Given the description of an element on the screen output the (x, y) to click on. 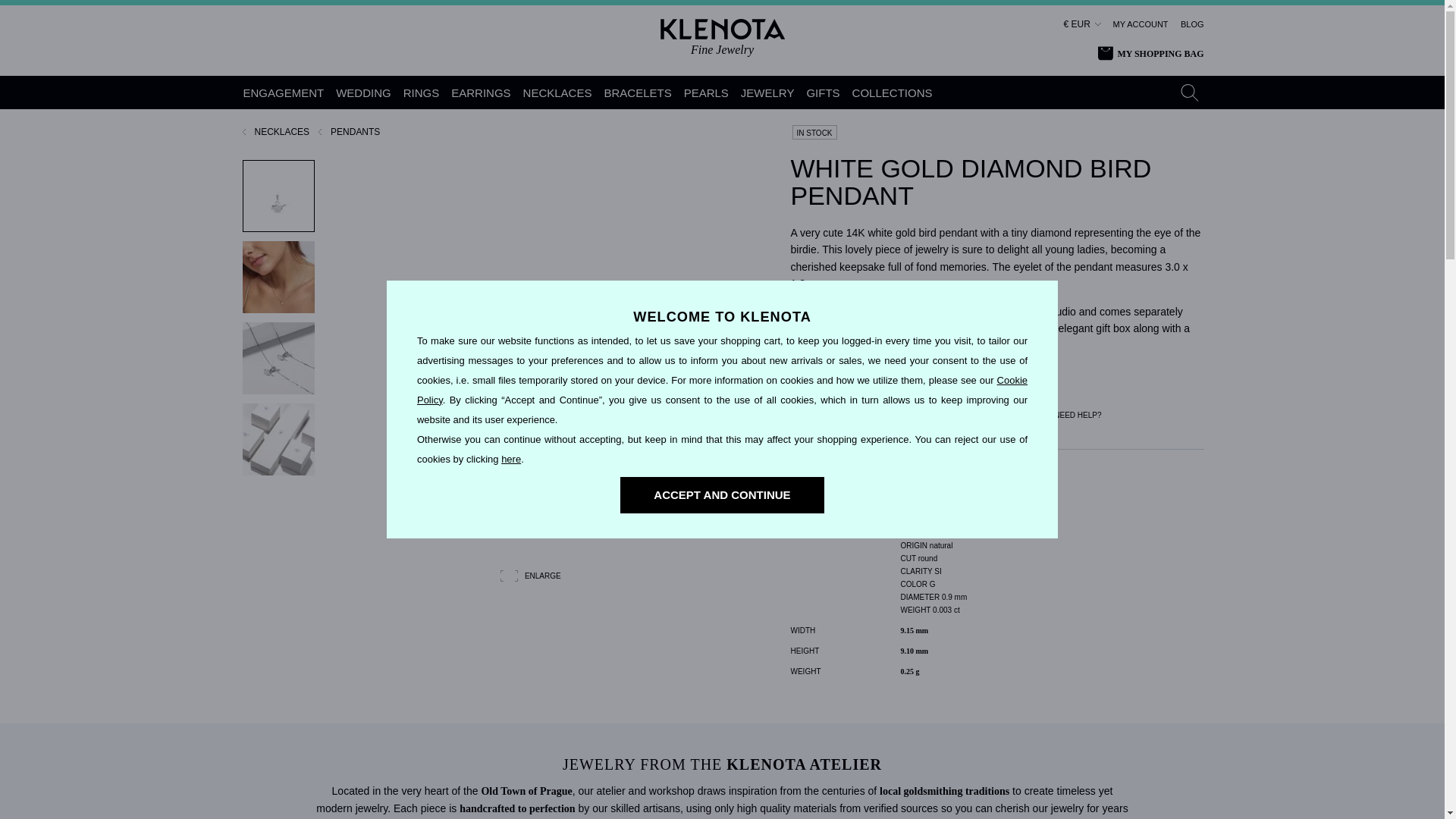
MY ACCOUNT (1141, 24)
ENGAGEMENT (283, 92)
BLOG (1192, 24)
MY SHOPPING BAG (1150, 53)
